Given the description of an element on the screen output the (x, y) to click on. 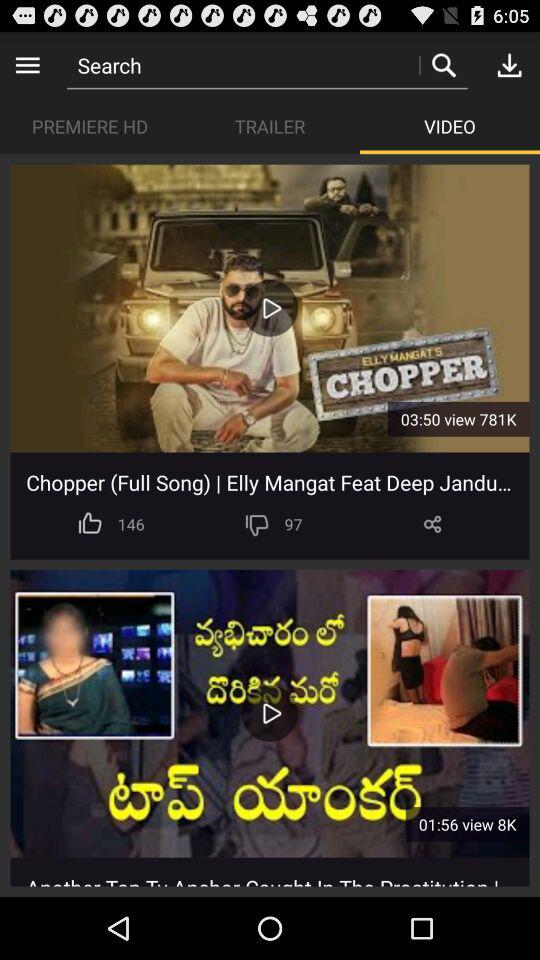
turn on item to the left of the 97 item (256, 523)
